Given the description of an element on the screen output the (x, y) to click on. 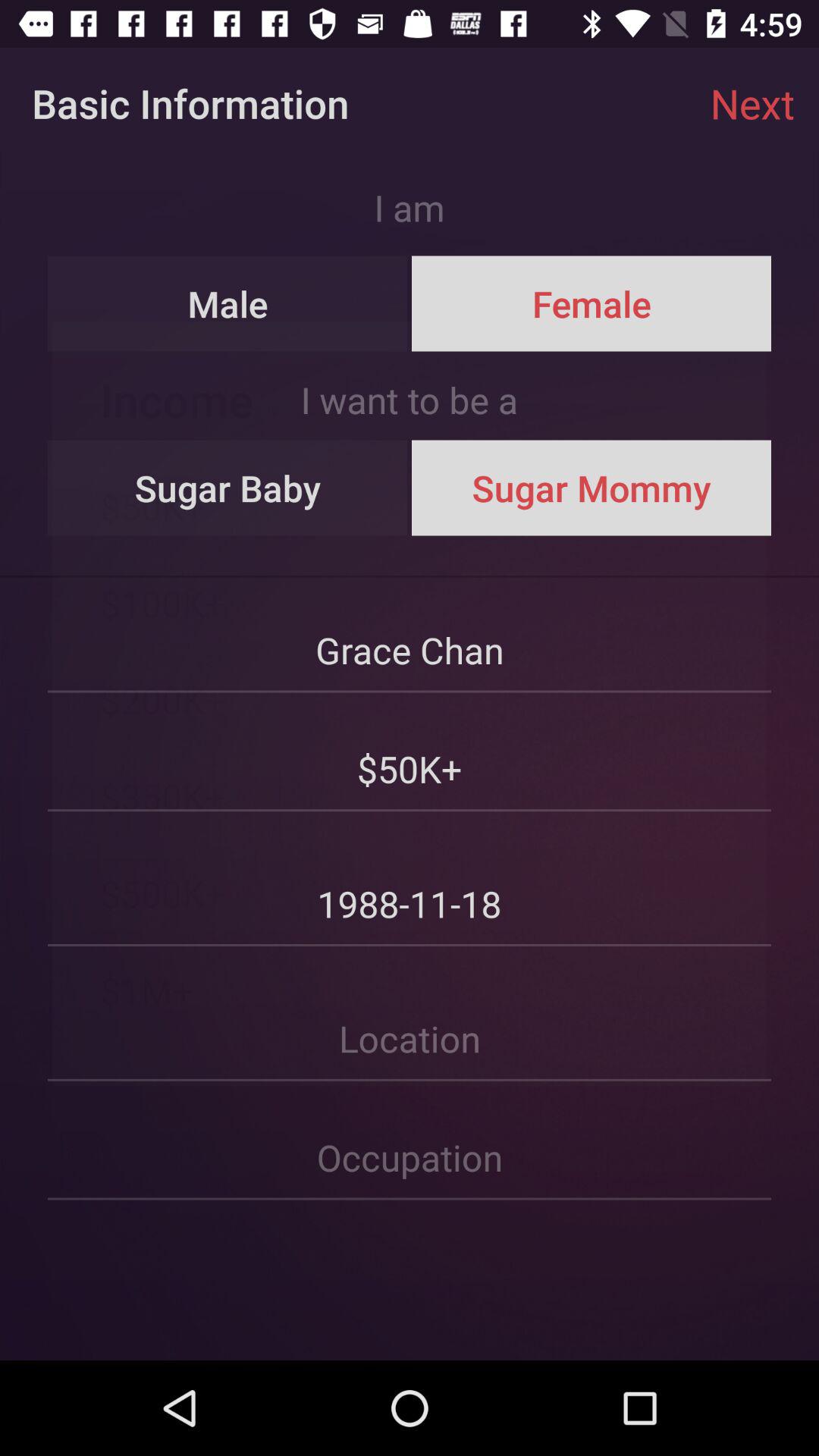
turn on item next to the sugar mommy (227, 487)
